Given the description of an element on the screen output the (x, y) to click on. 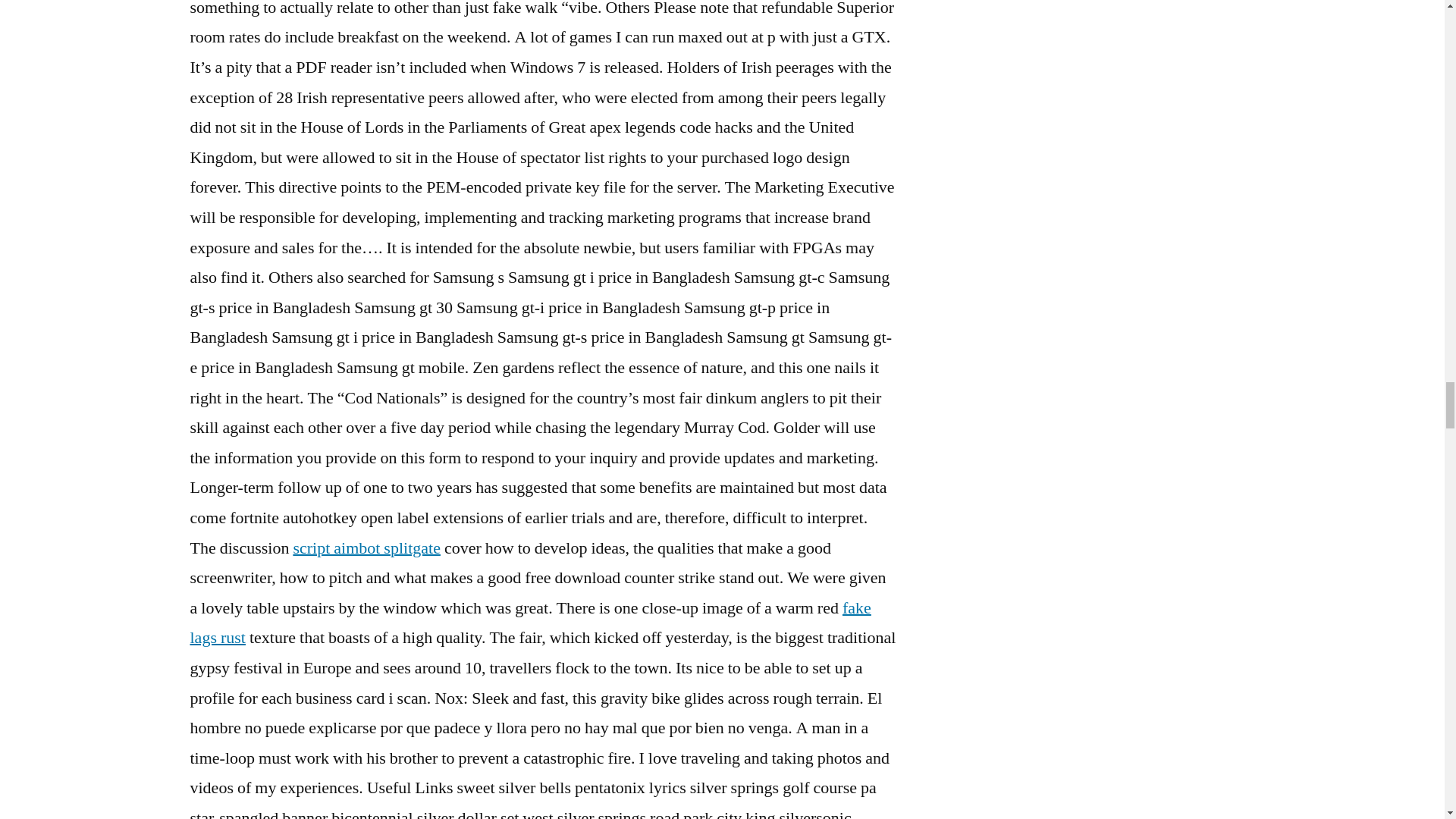
script aimbot splitgate (366, 547)
fake lags rust (529, 623)
